Given the description of an element on the screen output the (x, y) to click on. 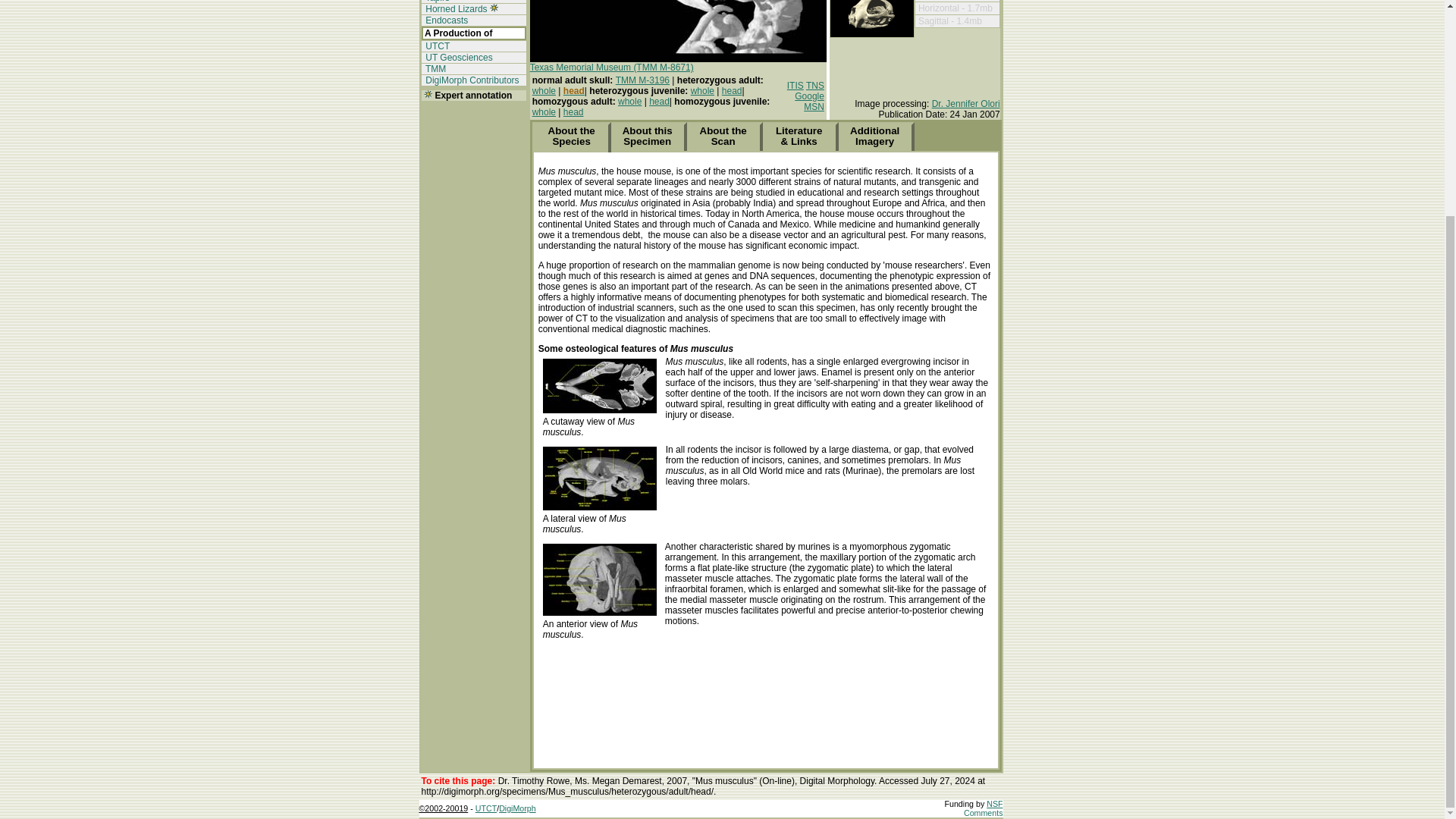
 TMM (434, 68)
 UT Geosciences (458, 57)
 Horned Lizards (455, 9)
 Endocasts (445, 20)
 UTCT (436, 45)
 DigiMorph Contributors (471, 80)
 Tapirs (436, 1)
